Given the description of an element on the screen output the (x, y) to click on. 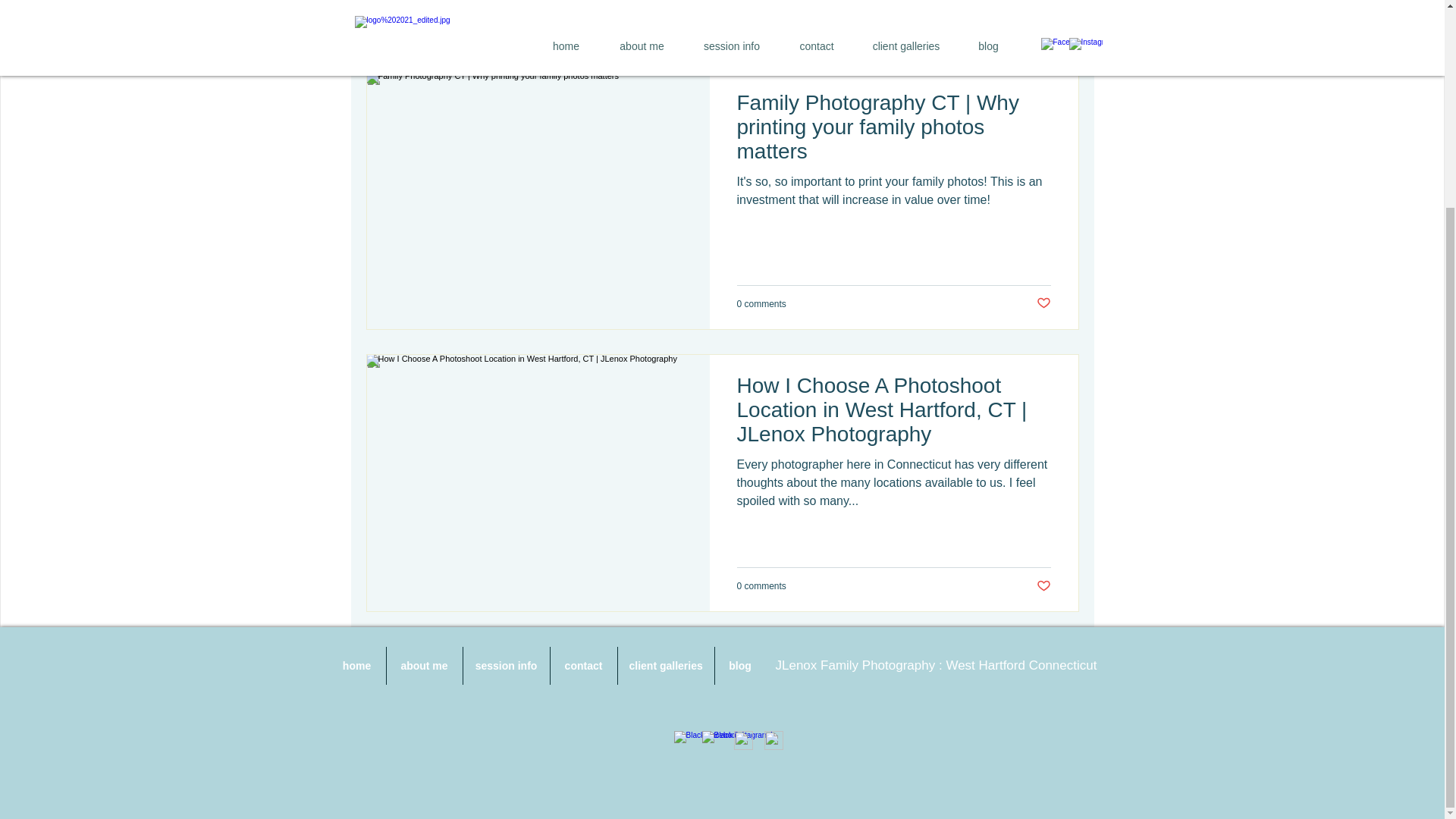
about me (425, 665)
client galleries (665, 665)
home (356, 665)
Post not marked as liked (1042, 303)
Post not marked as liked (1042, 586)
0 comments (761, 585)
blog (739, 665)
0 comments (761, 303)
contact (583, 665)
call me! (742, 740)
